Given the description of an element on the screen output the (x, y) to click on. 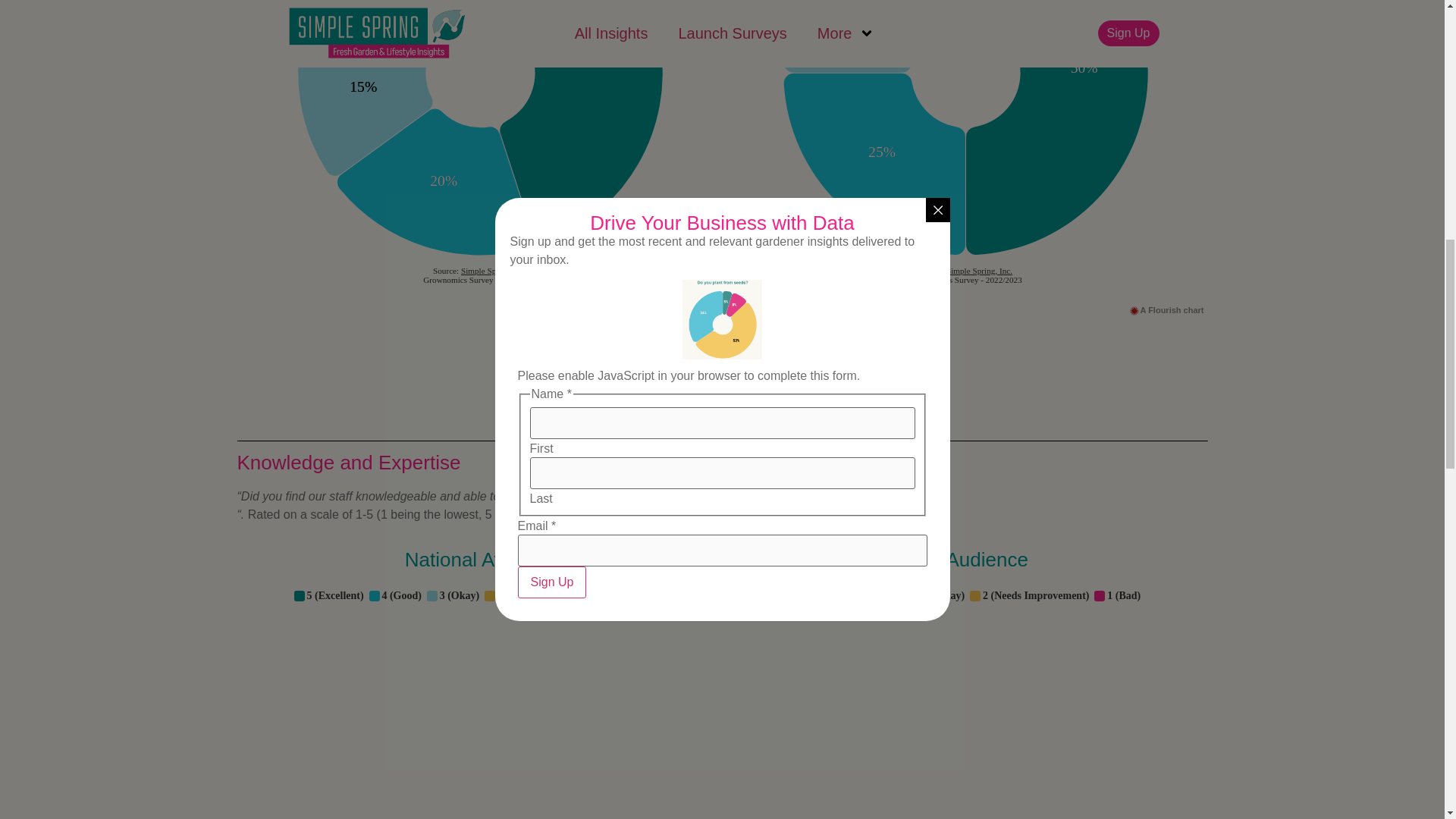
A Flourish chart (1166, 309)
A Flourish chart (681, 309)
Interactive or visual content (964, 701)
Interactive or visual content (478, 701)
